Given the description of an element on the screen output the (x, y) to click on. 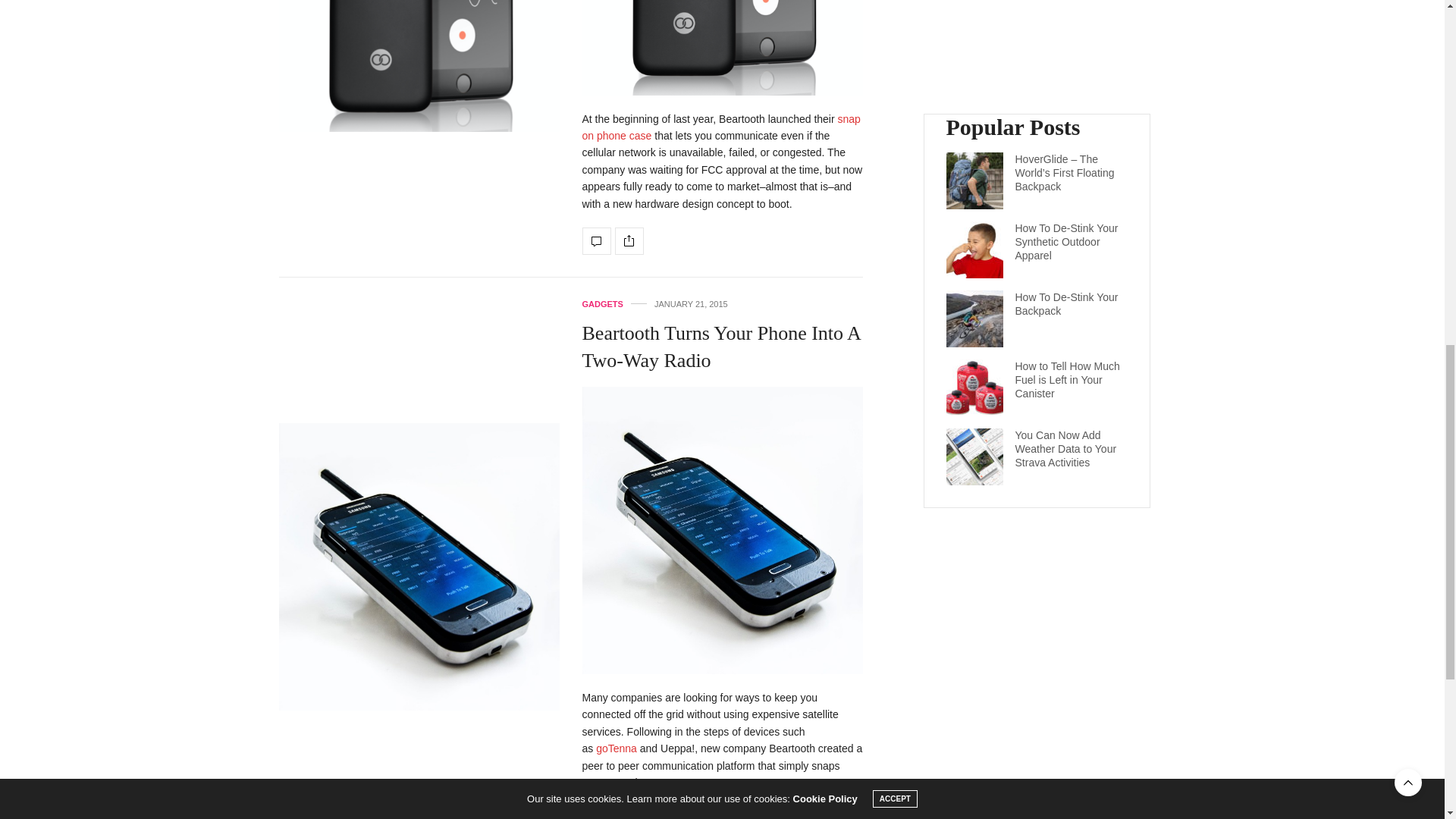
Beartooth Turns Your Phone Into A Two-Way Radio (419, 566)
Text and Talk to Your Friends In No Service Zone (596, 240)
Text and Talk to Your Friends In No Service Zone (419, 65)
goTenna Off The Grid Communication Device (616, 748)
Beartooth Turns Your Phone Into A Two-Way Radio (596, 812)
Beartooth Turns Your Phone Into A Two-Way Radio (721, 346)
